Given the description of an element on the screen output the (x, y) to click on. 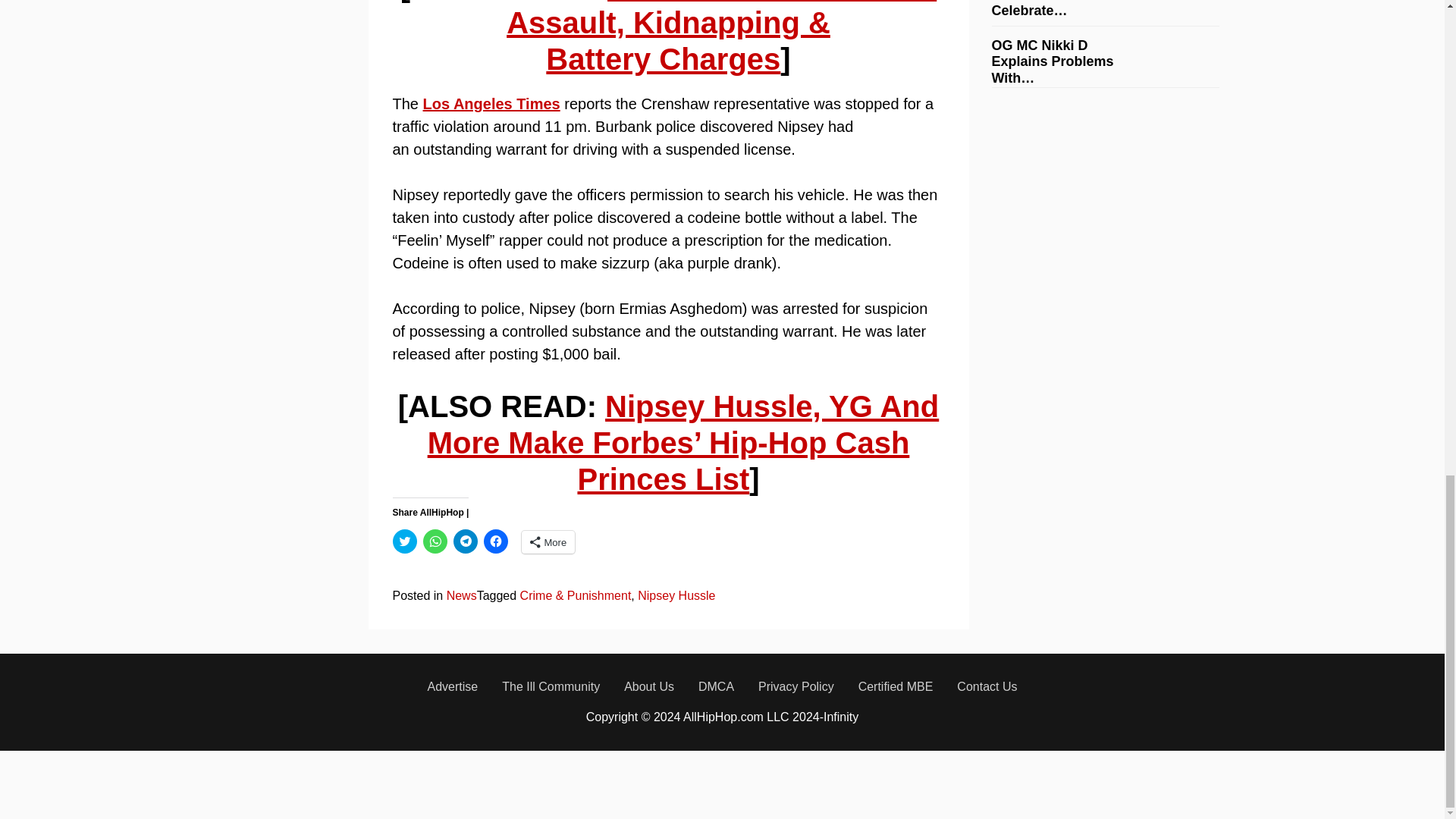
Click to share on WhatsApp (434, 541)
Click to share on Telegram (464, 541)
Click to share on Facebook (495, 541)
Click to share on Twitter (404, 541)
